Given the description of an element on the screen output the (x, y) to click on. 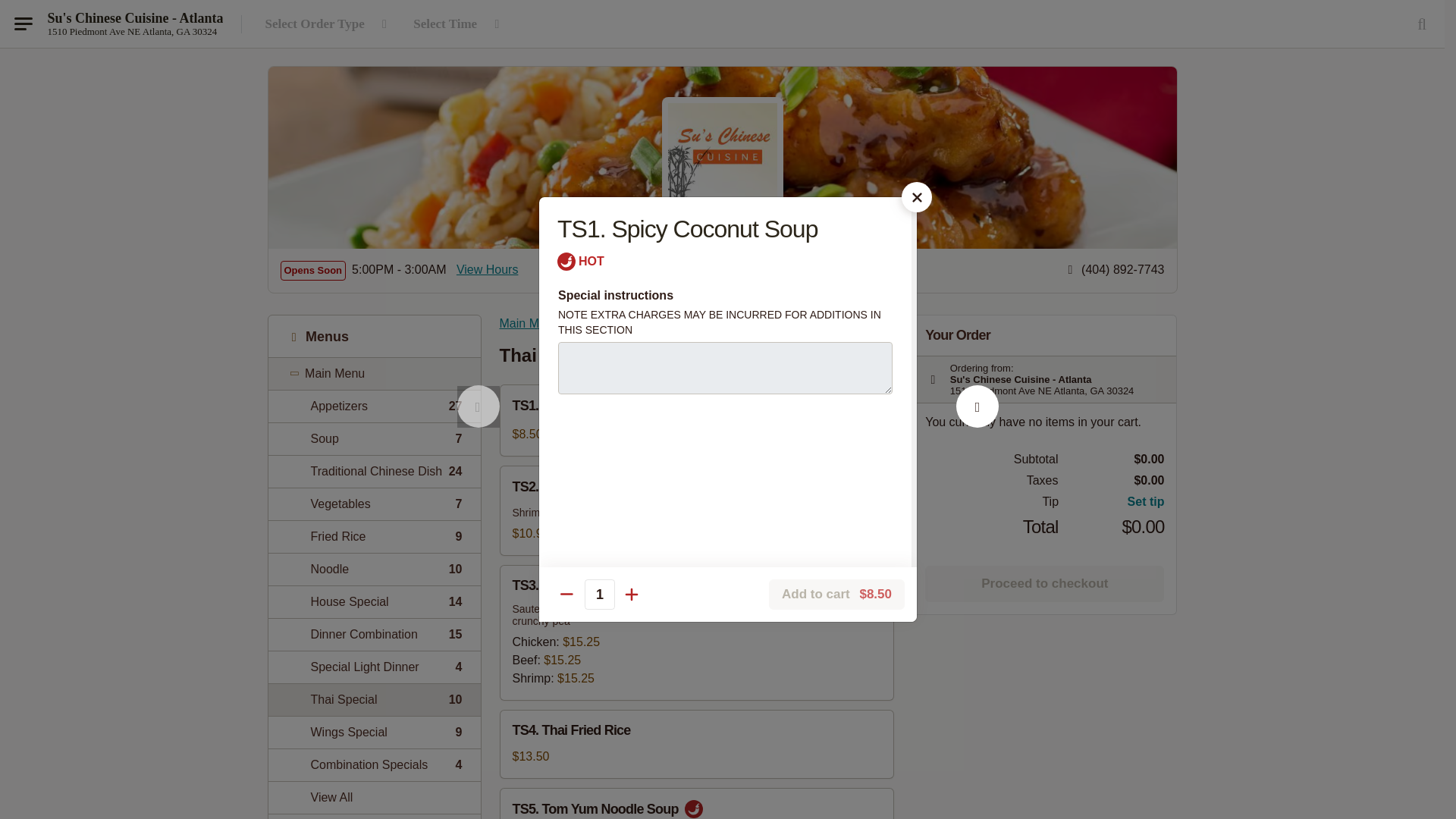
Proceed to checkout (1043, 583)
1 (599, 594)
Add tip (1112, 501)
No previous items, this is the first item. (373, 503)
Select Order Type (373, 405)
Select Time (478, 422)
Su's Chinese Cuisine - Atlanta (373, 601)
TS2. Tom Yum Soup (373, 568)
